Given the description of an element on the screen output the (x, y) to click on. 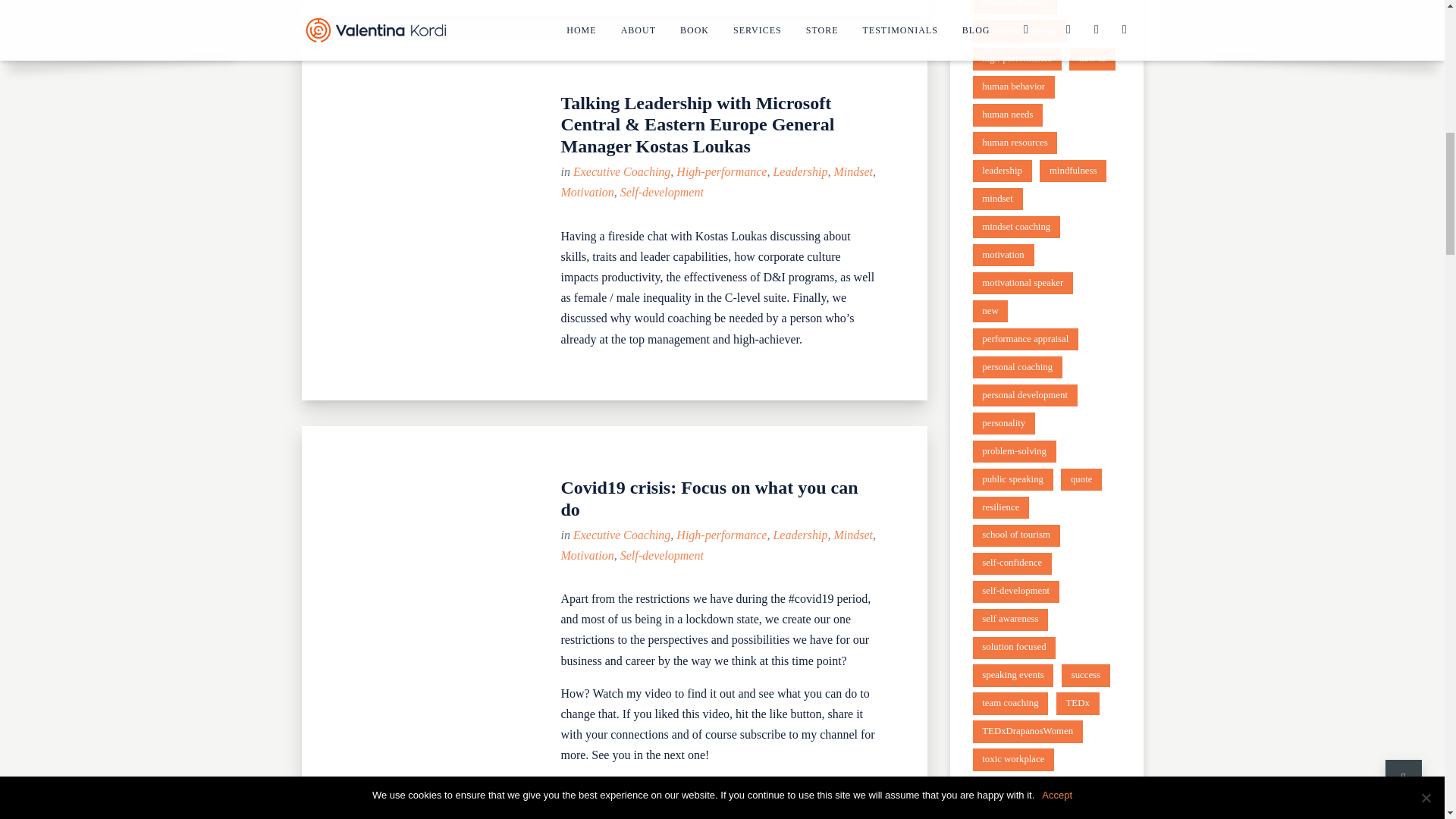
Self-development (661, 192)
Executive Coaching (621, 534)
High-performance (722, 534)
Leadership (800, 171)
Motivation (586, 192)
Covid19 crisis: Focus on what you can do (708, 498)
Mindset (852, 534)
Self-development (661, 554)
Executive Coaching (621, 171)
Motivation (586, 554)
High-performance (722, 171)
Leadership (800, 534)
Mindset (852, 171)
